Given the description of an element on the screen output the (x, y) to click on. 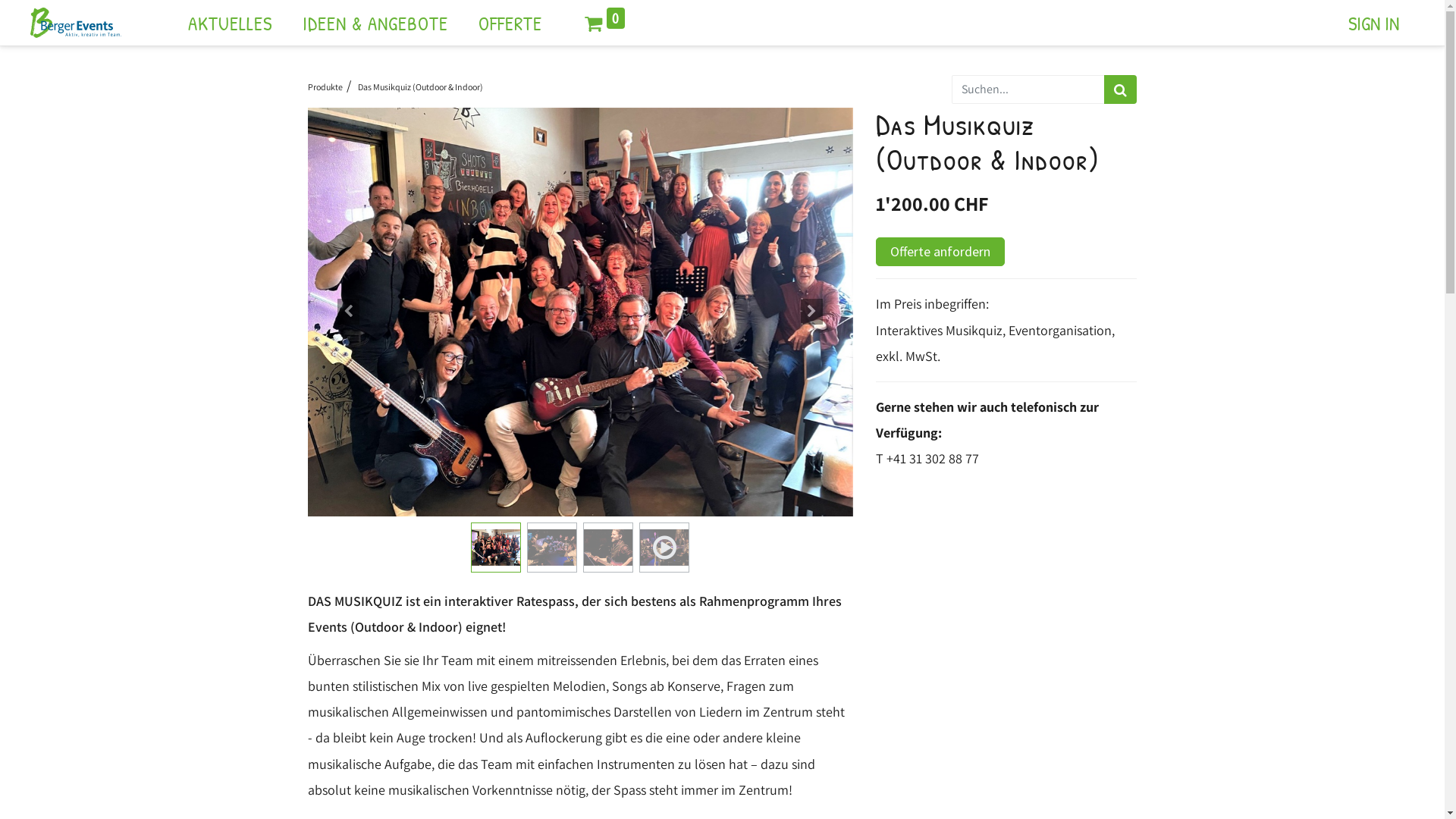
Suchen Element type: hover (1120, 89)
Previous Element type: hover (348, 311)
AKTUELLES Element type: text (229, 22)
Produkte Element type: text (324, 86)
SIGN IN Element type: text (1373, 22)
0 Element type: text (604, 22)
IDEEN & ANGEBOTE Element type: text (375, 22)
Next Element type: hover (811, 311)
OFFERTE Element type: text (510, 22)
Offerte anfordern Element type: text (939, 251)
